Given the description of an element on the screen output the (x, y) to click on. 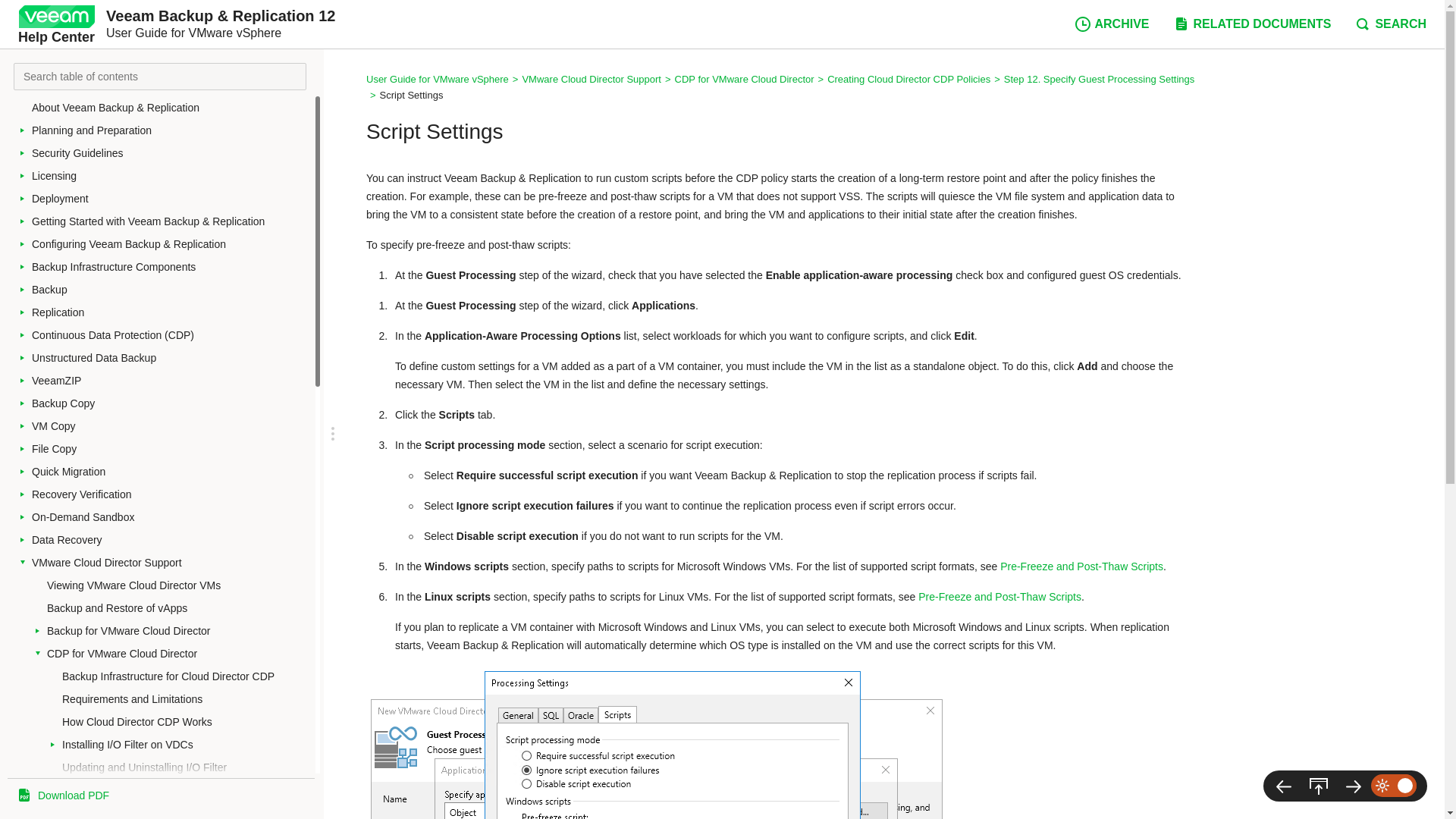
Security Guidelines (171, 152)
Planning and Preparation (171, 129)
Help Center (55, 23)
Security Guidelines (171, 152)
Planning and Preparation (171, 129)
SEARCH (1390, 24)
RELATED DOCUMENTS (1252, 24)
ARCHIVE (1112, 24)
